Given the description of an element on the screen output the (x, y) to click on. 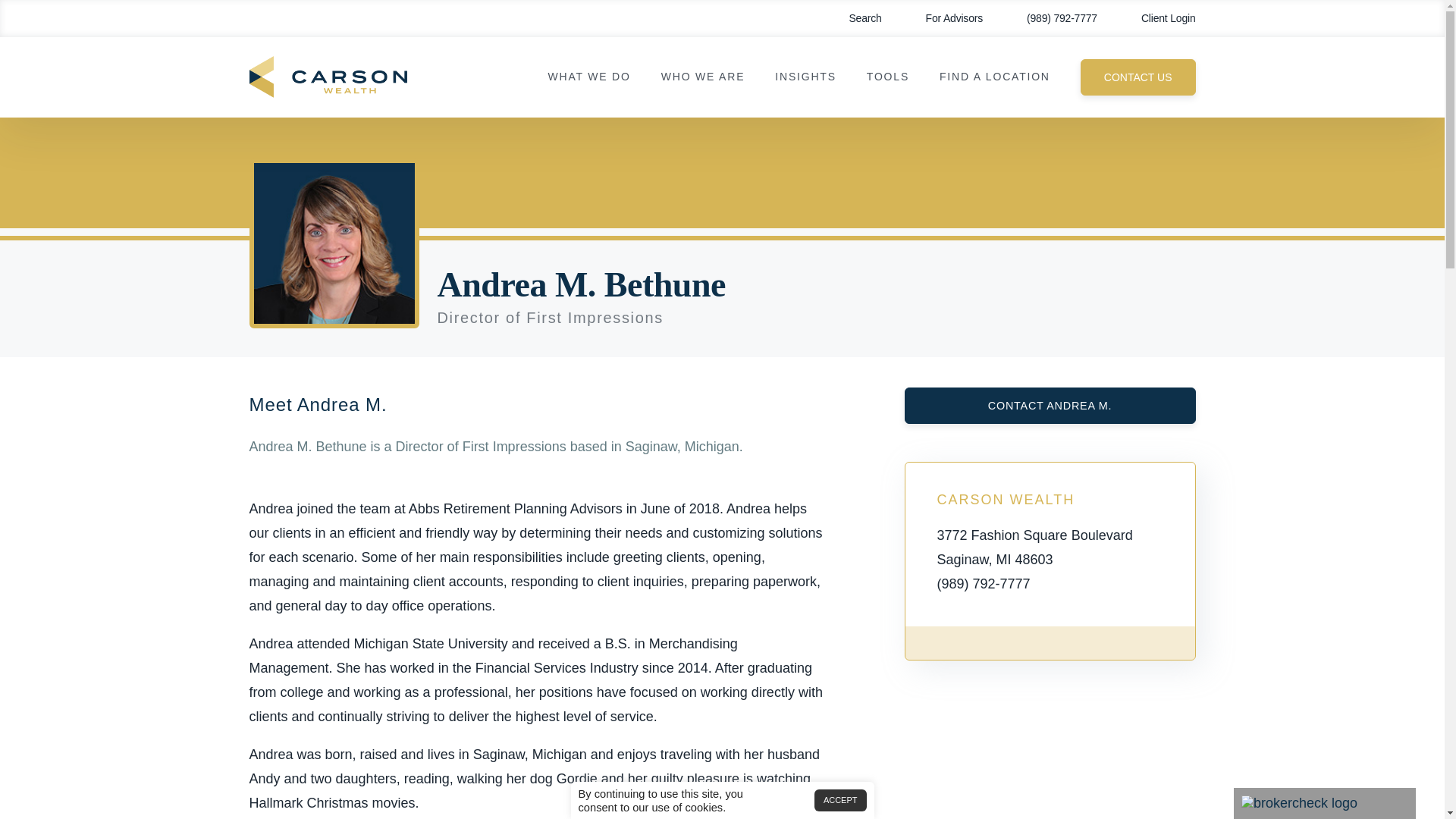
WHAT WE DO (588, 77)
WHO WE ARE (703, 77)
Client Login (1157, 18)
For Advisors (943, 18)
FIND A LOCATION (994, 77)
Search (853, 18)
INSIGHTS (804, 77)
TOOLS (887, 77)
